Given the description of an element on the screen output the (x, y) to click on. 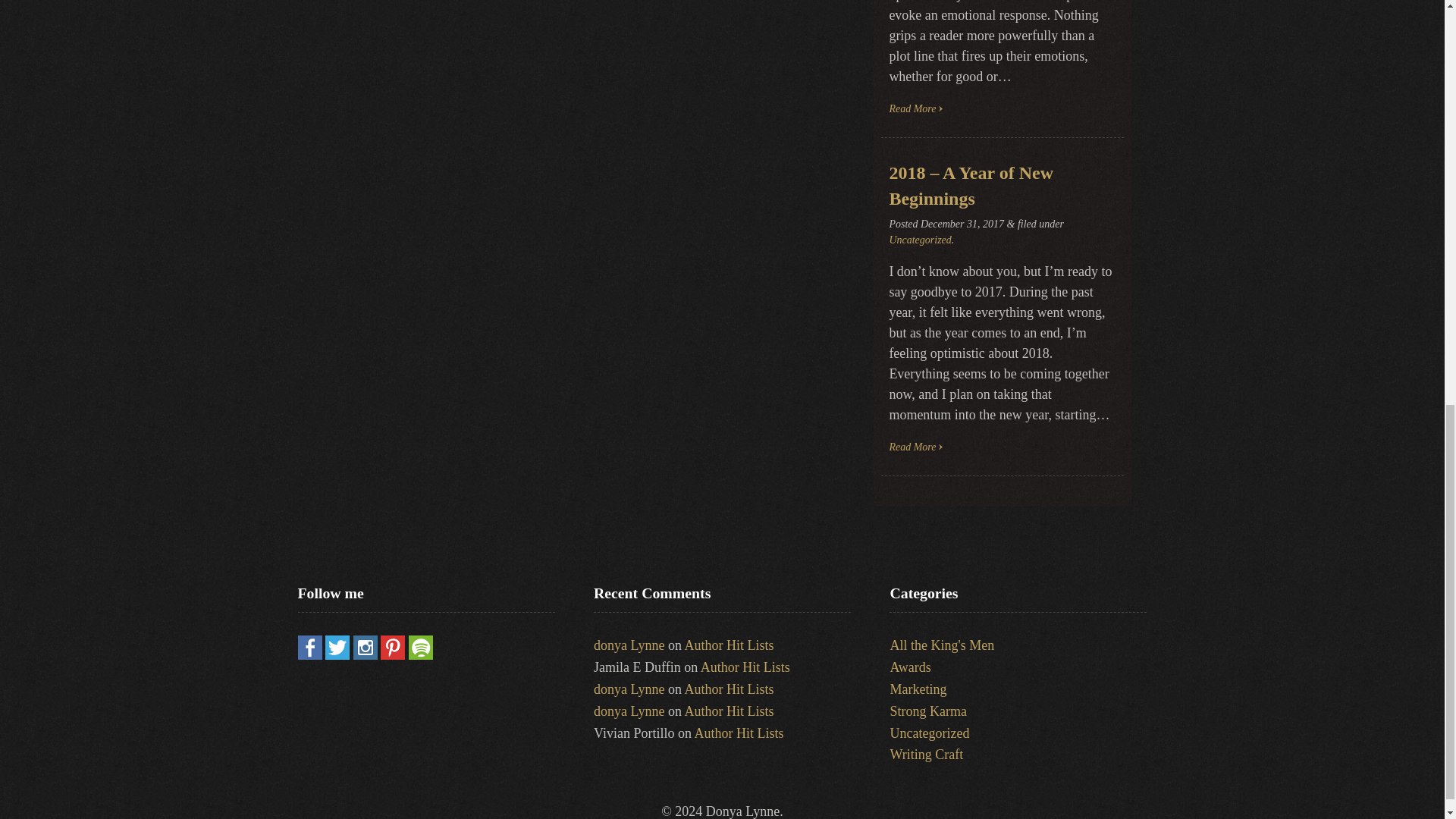
Spotify (419, 654)
Instagram (365, 654)
Facebook (309, 654)
Pinterest (392, 654)
Twitter (336, 654)
